Given the description of an element on the screen output the (x, y) to click on. 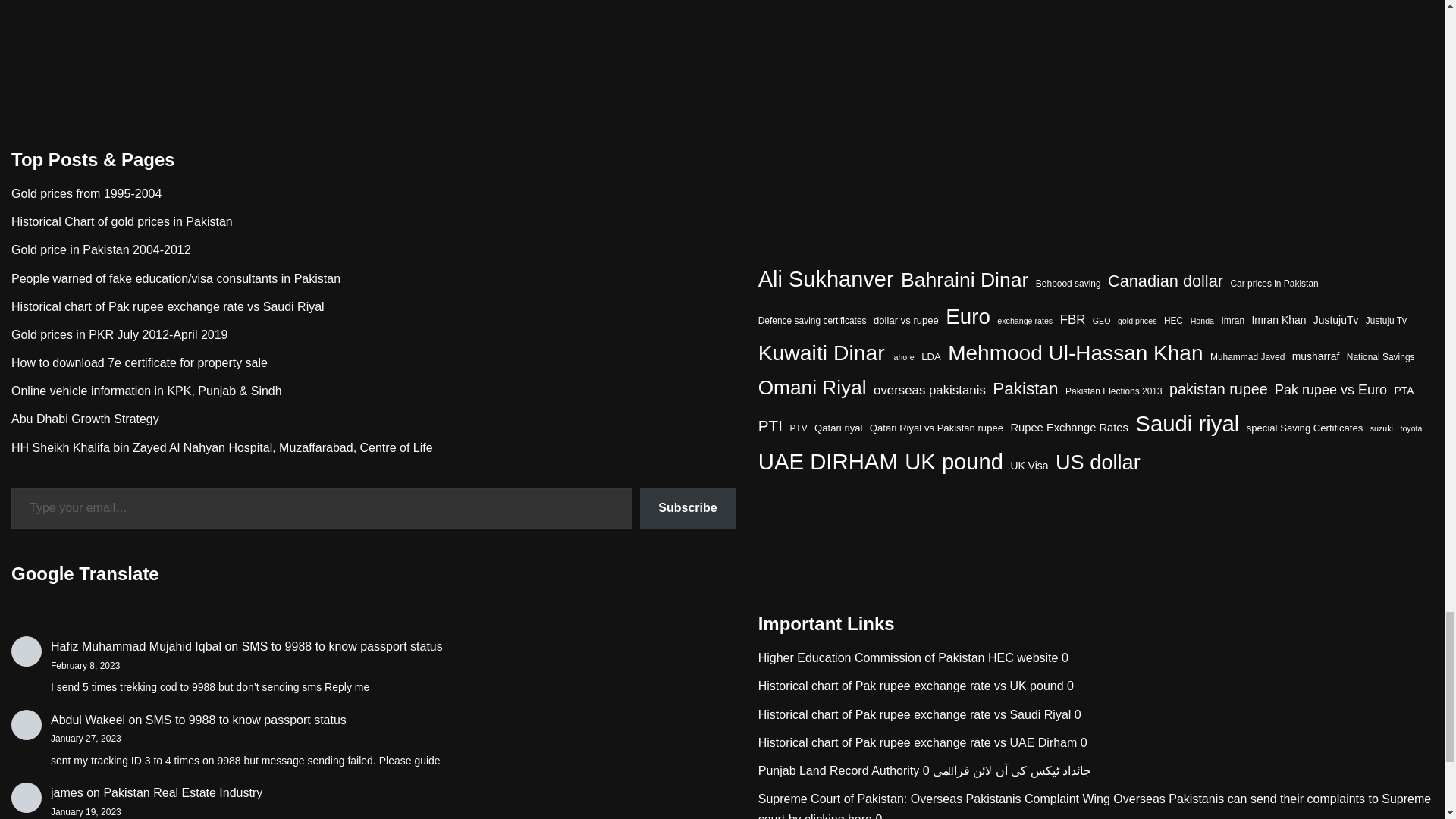
Comment Form (721, 35)
Please fill in this field. (321, 508)
HEC website (871, 657)
